Given the description of an element on the screen output the (x, y) to click on. 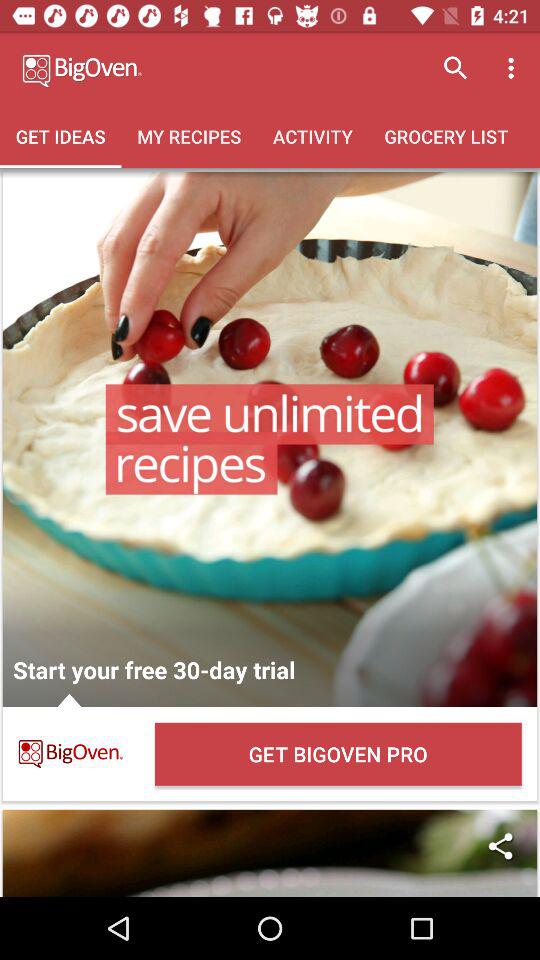
launch the get bigoven pro (337, 753)
